Given the description of an element on the screen output the (x, y) to click on. 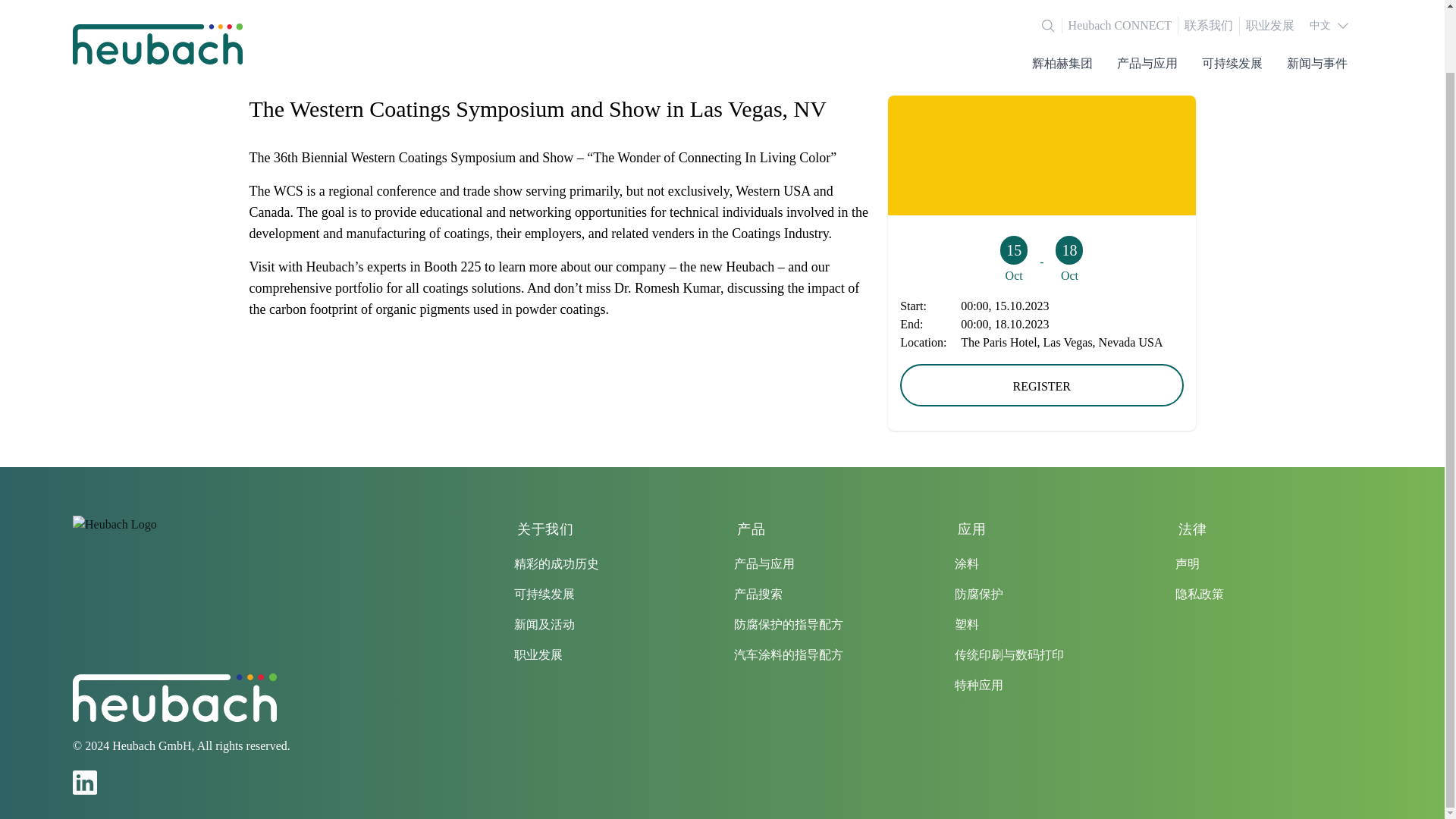
Back to News (721, 49)
Linkedin (84, 782)
REGISTER (1040, 384)
